Given the description of an element on the screen output the (x, y) to click on. 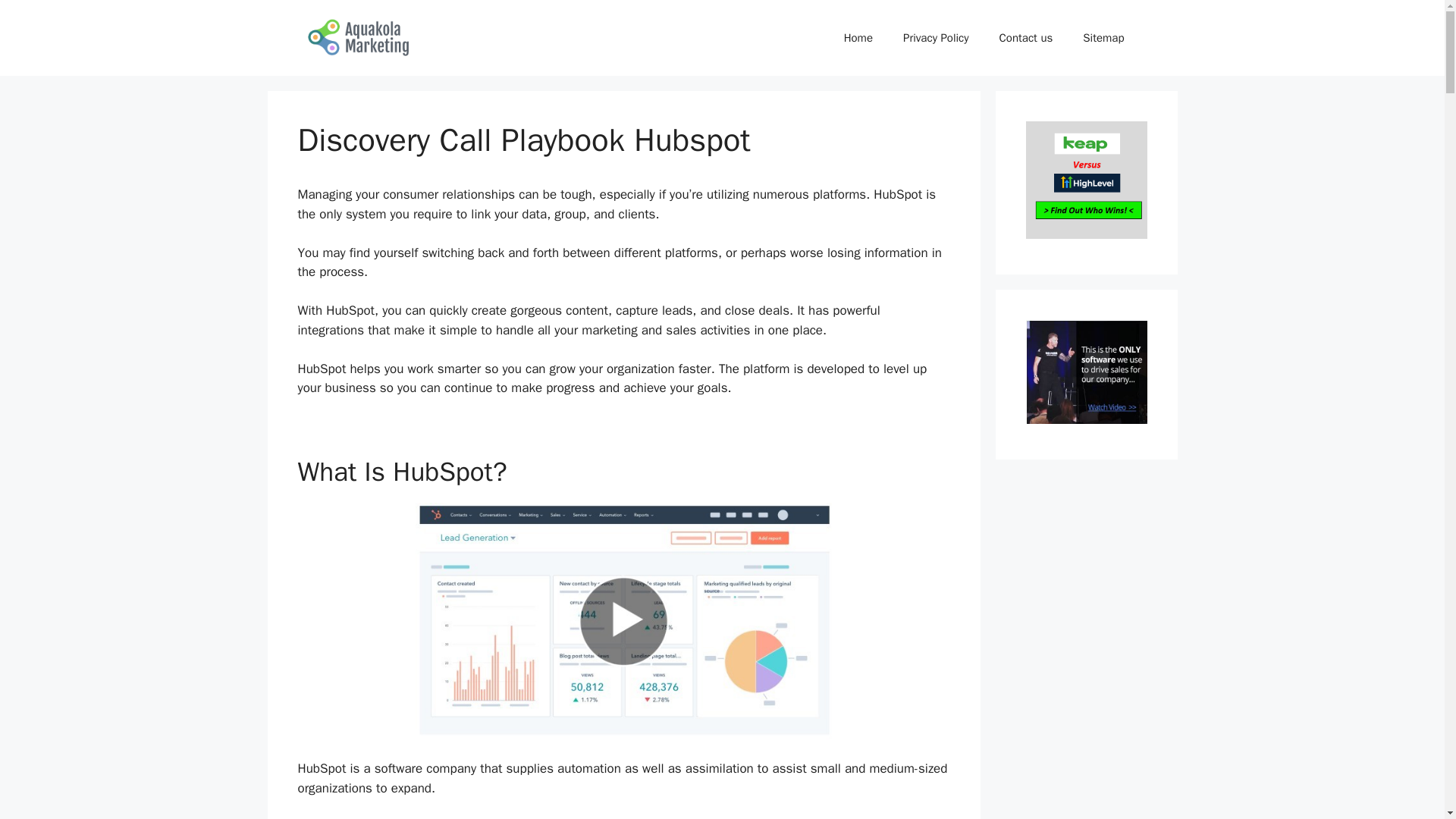
Contact us (1026, 37)
Home (858, 37)
Sitemap (1102, 37)
Privacy Policy (936, 37)
